Given the description of an element on the screen output the (x, y) to click on. 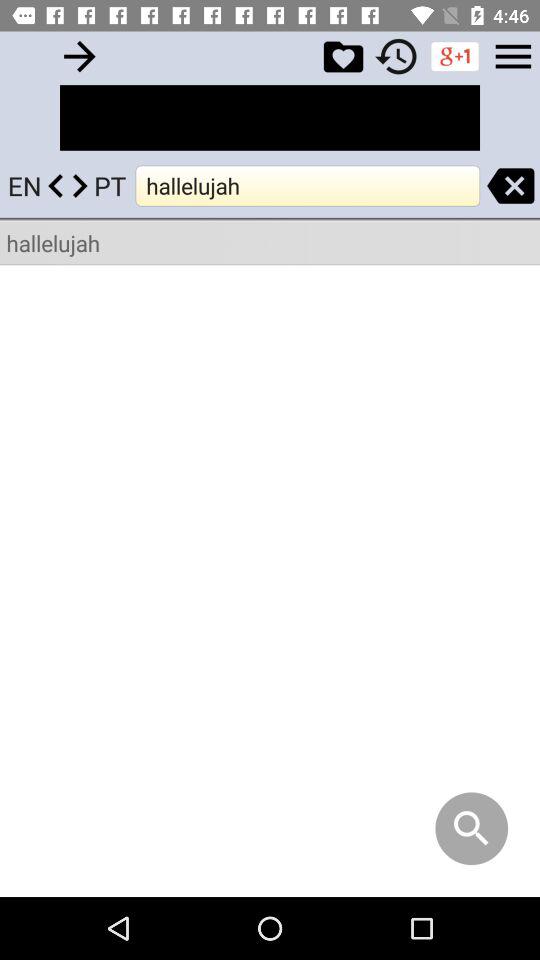
add to favorites (343, 56)
